Given the description of an element on the screen output the (x, y) to click on. 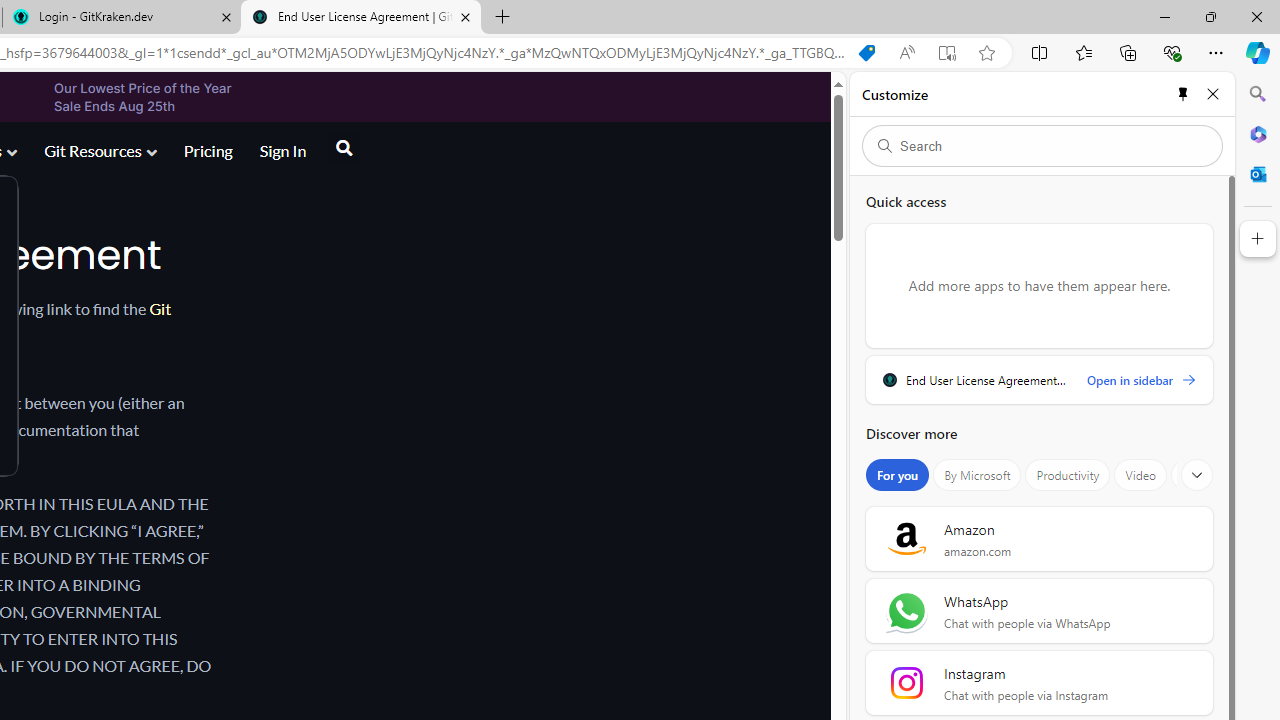
Video (1140, 475)
